Given the description of an element on the screen output the (x, y) to click on. 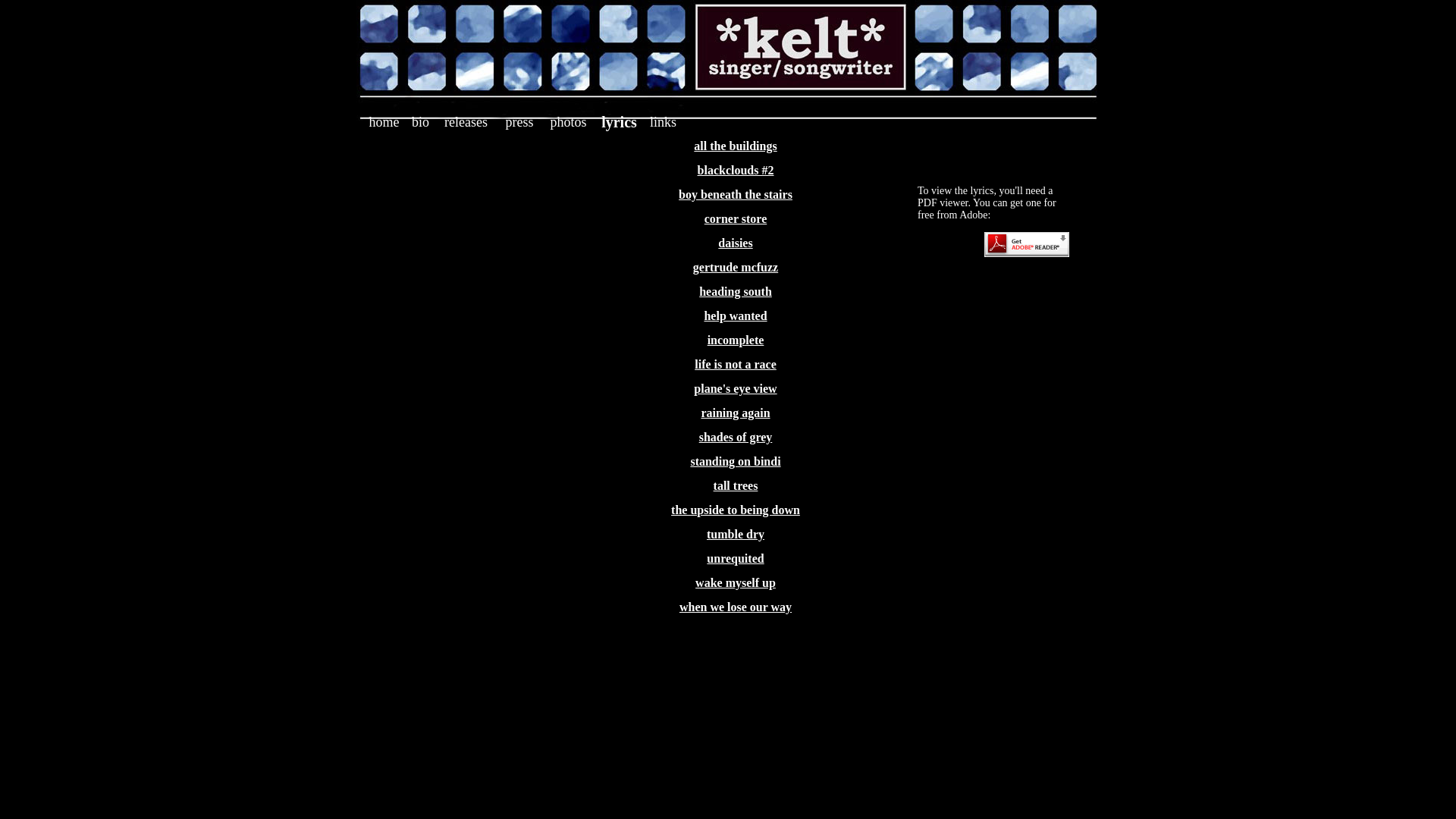
tall trees Element type: text (735, 485)
releases Element type: text (465, 121)
boy beneath the stairs Element type: text (735, 194)
press Element type: text (519, 121)
raining again Element type: text (734, 412)
all the buildings Element type: text (734, 145)
gertrude mcfuzz Element type: text (735, 266)
links Element type: text (662, 121)
standing on bindi Element type: text (735, 461)
daisies Element type: text (735, 242)
heading south Element type: text (735, 291)
blackclouds #2 Element type: text (735, 169)
when we lose our way Element type: text (735, 606)
tumble dry Element type: text (735, 533)
corner store Element type: text (735, 218)
shades of grey Element type: text (735, 436)
unrequited Element type: text (734, 558)
incomplete Element type: text (735, 339)
photos Element type: text (567, 121)
plane's eye view Element type: text (734, 388)
help wanted Element type: text (734, 315)
home Element type: text (383, 121)
bio Element type: text (420, 121)
life is not a race Element type: text (735, 363)
wake myself up Element type: text (735, 582)
the upside to being down Element type: text (735, 509)
